Given the description of an element on the screen output the (x, y) to click on. 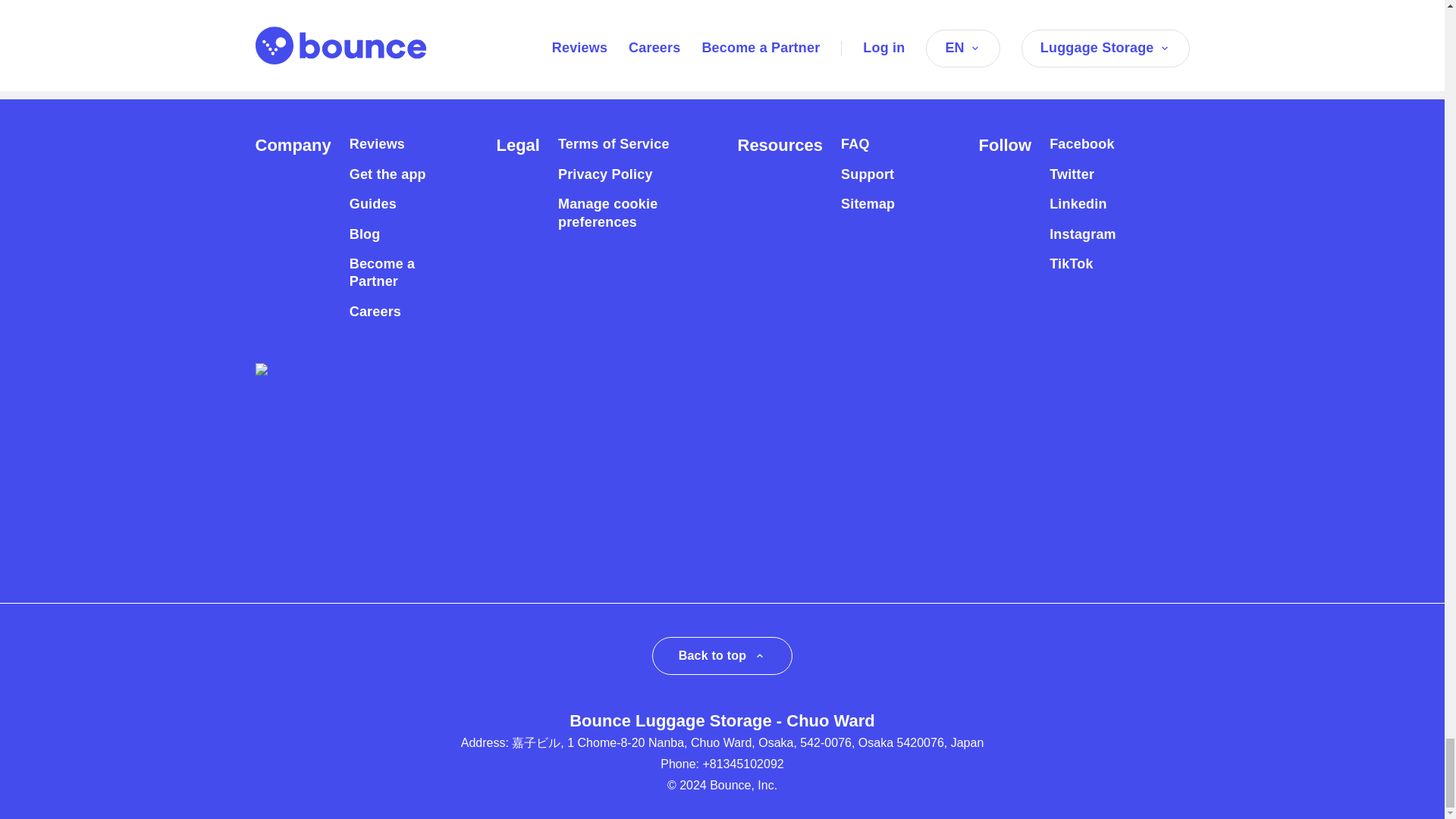
Luggage Storage (384, 72)
Bounce (279, 72)
Reviews (376, 144)
Get the app (387, 174)
Osaka (482, 72)
